Given the description of an element on the screen output the (x, y) to click on. 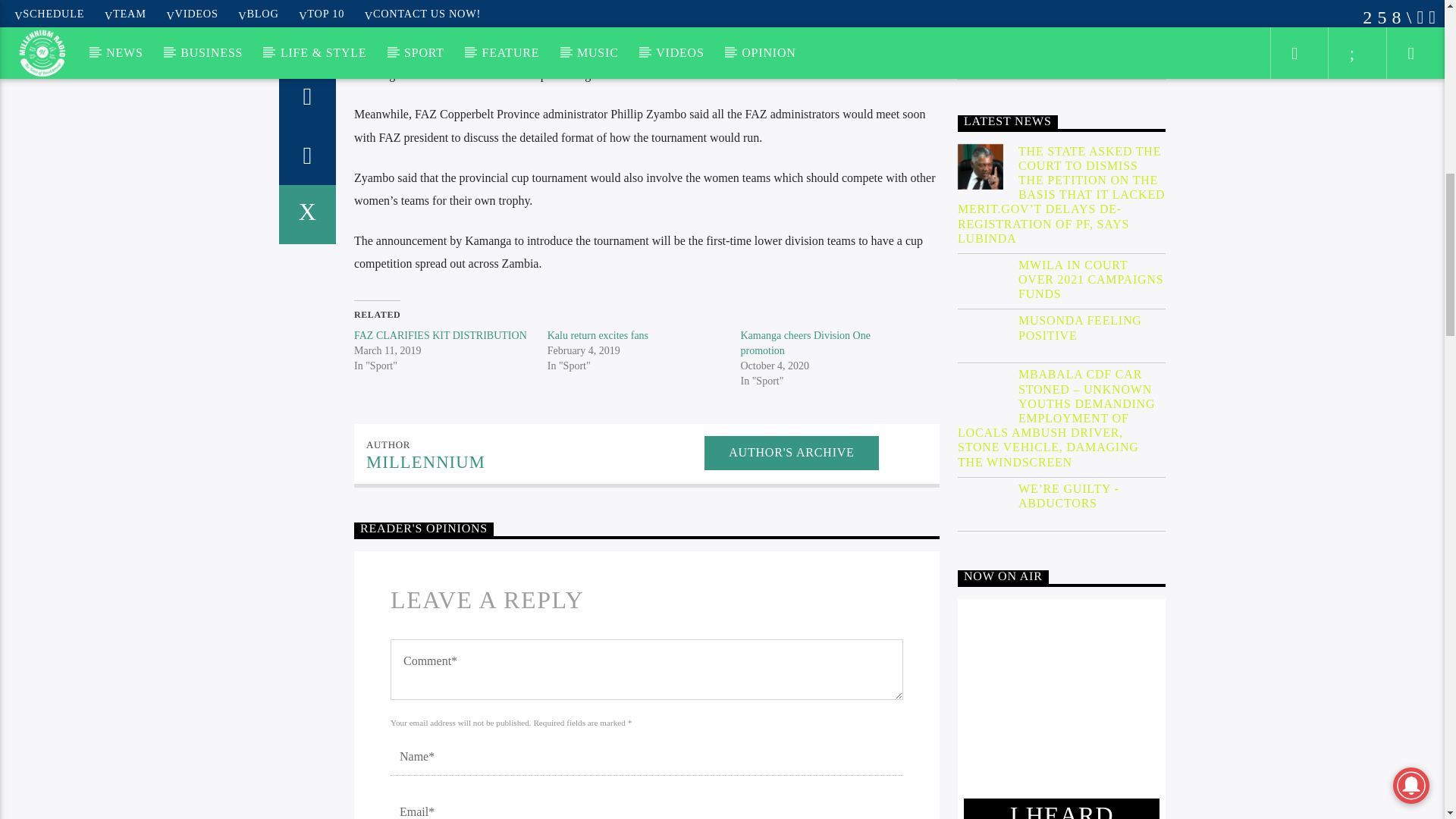
Kamanga cheers Division One promotion (804, 343)
FAZ CLARIFIES KIT DISTRIBUTION (440, 335)
Kalu return excites fans (597, 335)
